Given the description of an element on the screen output the (x, y) to click on. 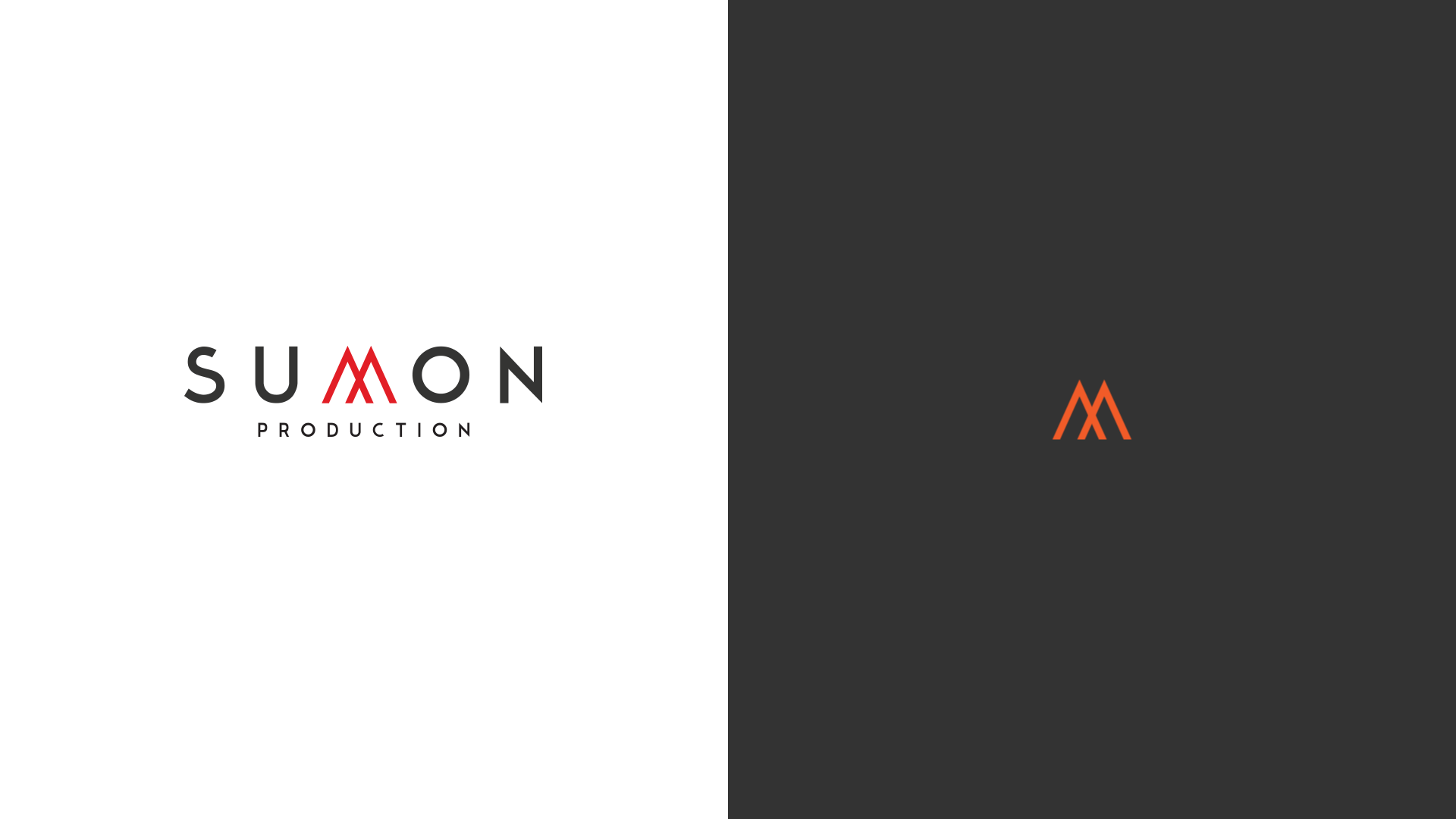
HOME (671, 43)
MODELS (767, 43)
SUMON AGENCY (416, 44)
BLOG (958, 43)
JOIN US (866, 43)
CONTACT US (1048, 43)
